Given the description of an element on the screen output the (x, y) to click on. 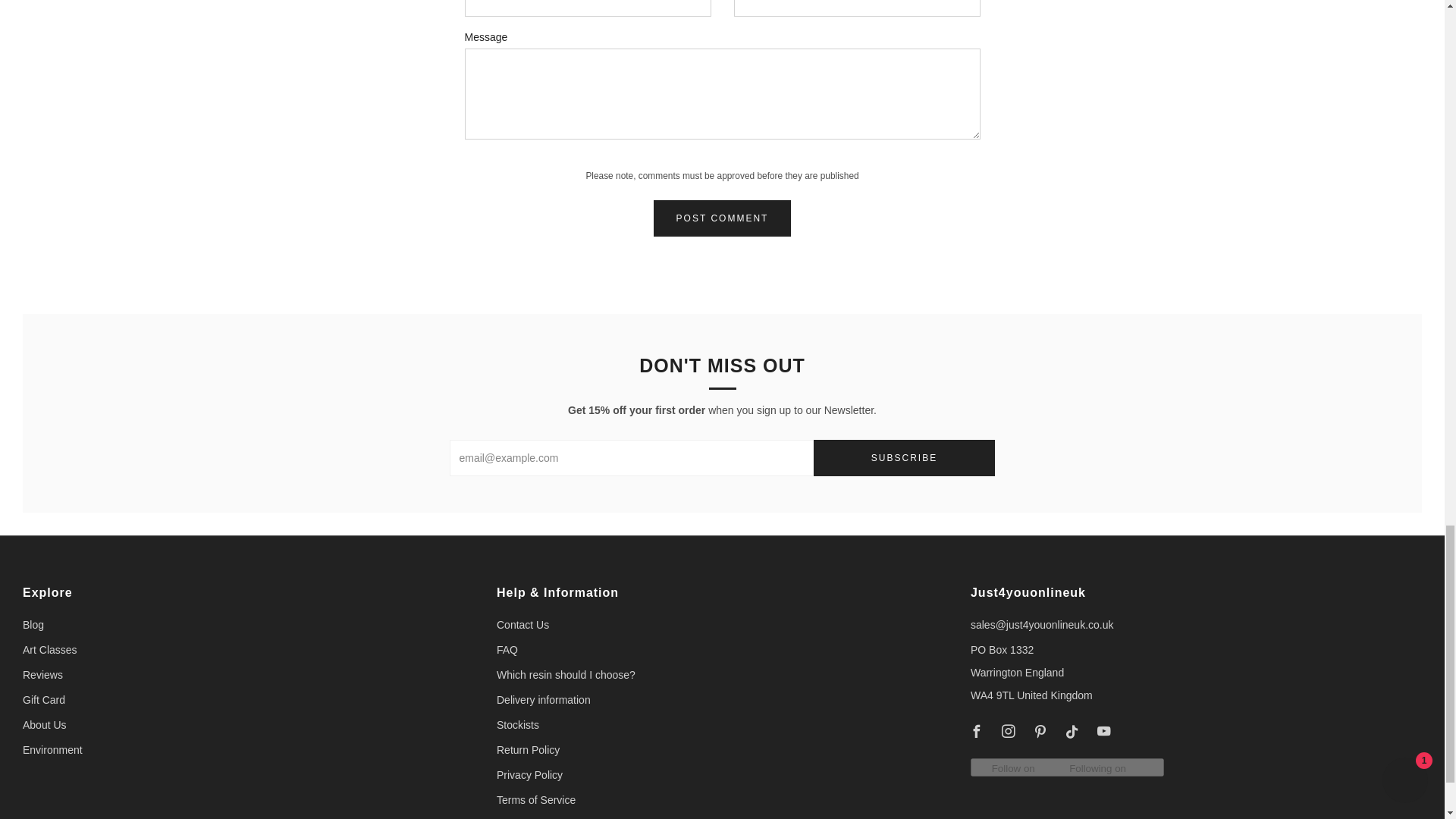
Post comment (722, 217)
